Given the description of an element on the screen output the (x, y) to click on. 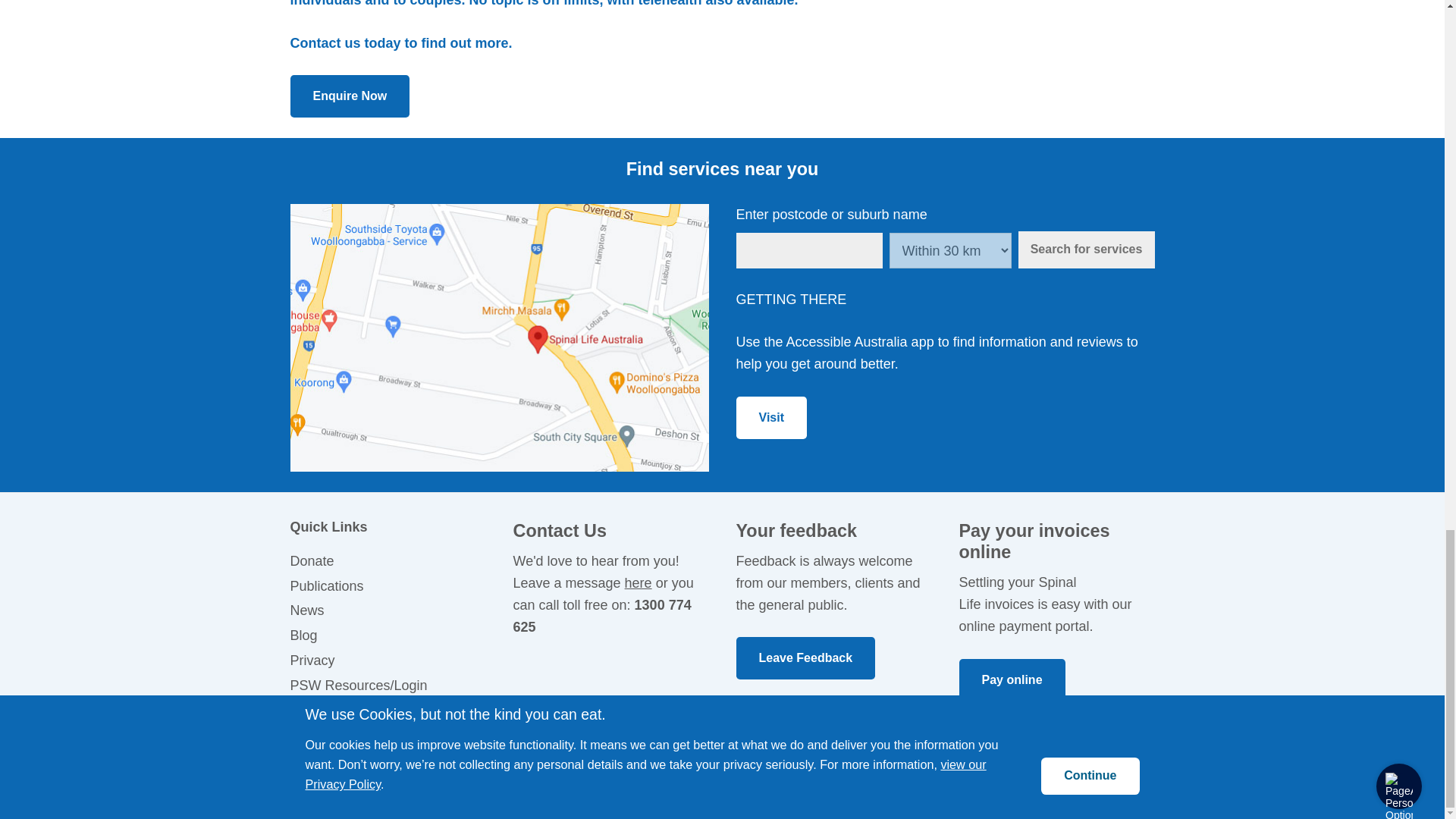
Search for services (1085, 248)
